Given the description of an element on the screen output the (x, y) to click on. 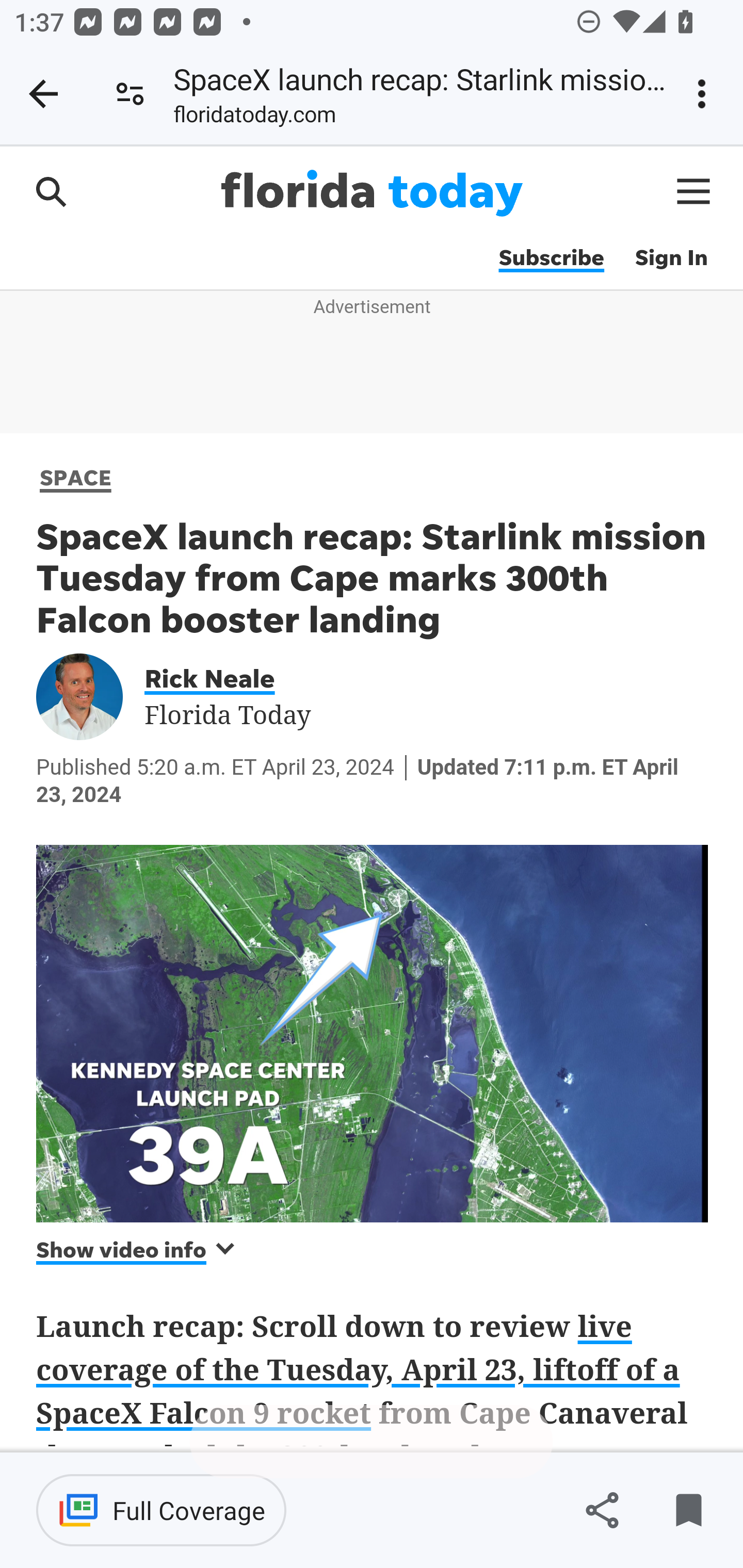
Close tab (43, 93)
Customize and control Google Chrome (705, 93)
Connection is secure (129, 93)
floridatoday.com (254, 117)
Florida Today (371, 193)
Search (50, 191)
Global Navigation (693, 191)
Subscribe (550, 257)
Sign In (671, 257)
SPACE (75, 476)
Rick Neale (222, 677)
Show video info (137, 1249)
Full Coverage (161, 1509)
Share (601, 1510)
Remove from saved stories (688, 1510)
